Given the description of an element on the screen output the (x, y) to click on. 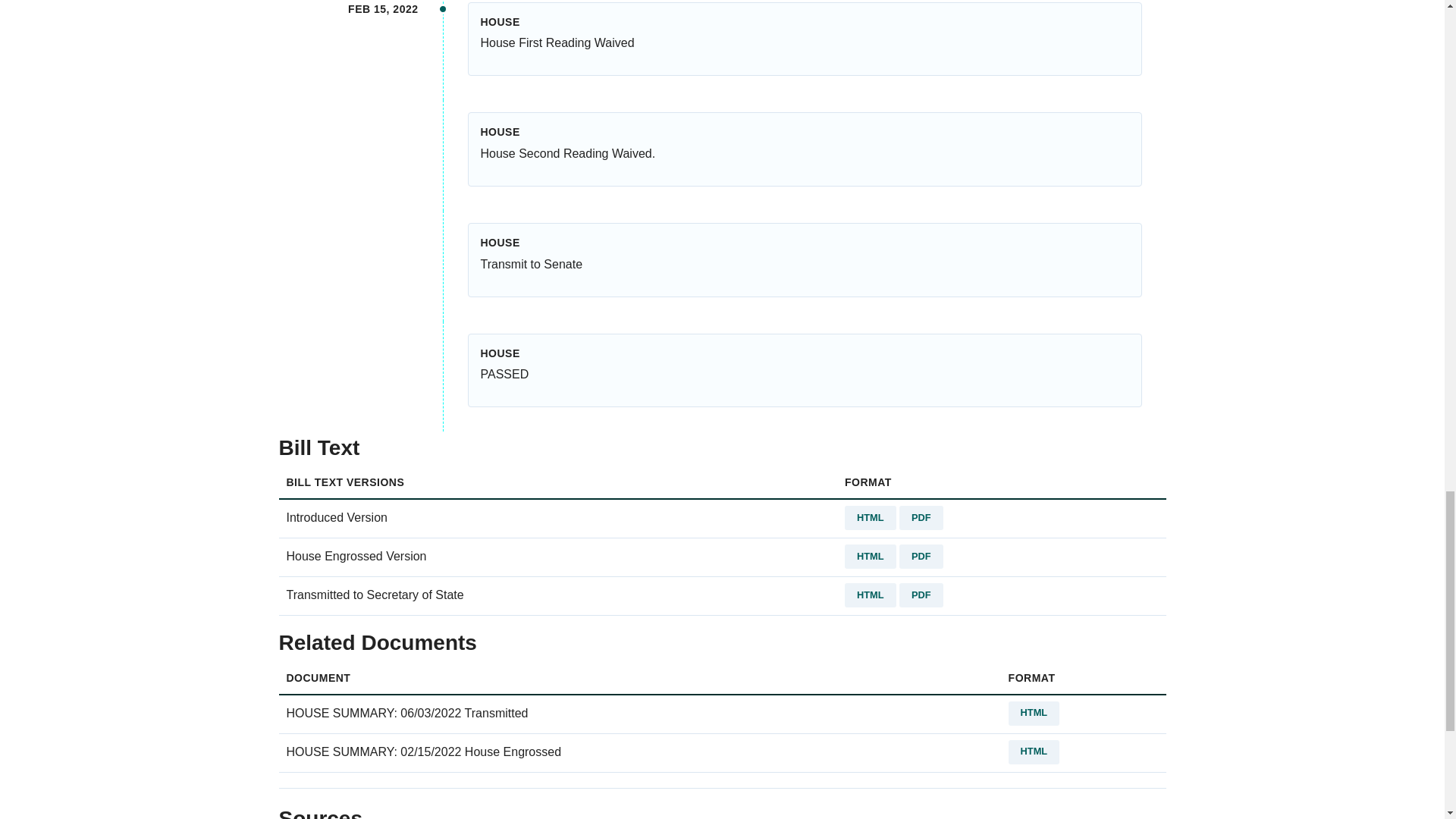
PDF (921, 595)
HTML (870, 556)
HTML (1034, 752)
HTML (870, 517)
PDF (921, 556)
HTML (1034, 713)
PDF (921, 517)
HTML (870, 595)
